Given the description of an element on the screen output the (x, y) to click on. 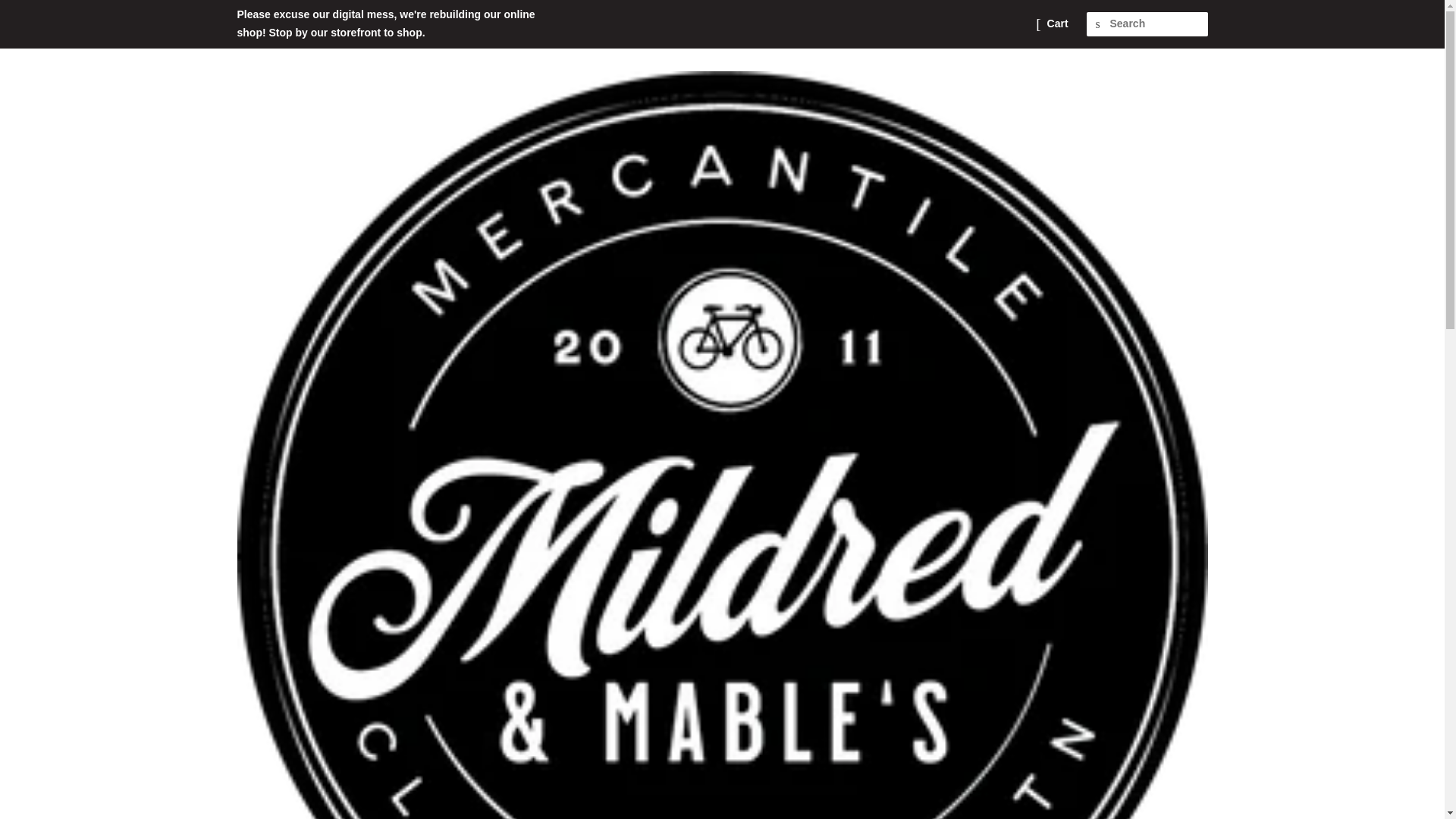
SEARCH (1097, 24)
Cart (1057, 24)
